Given the description of an element on the screen output the (x, y) to click on. 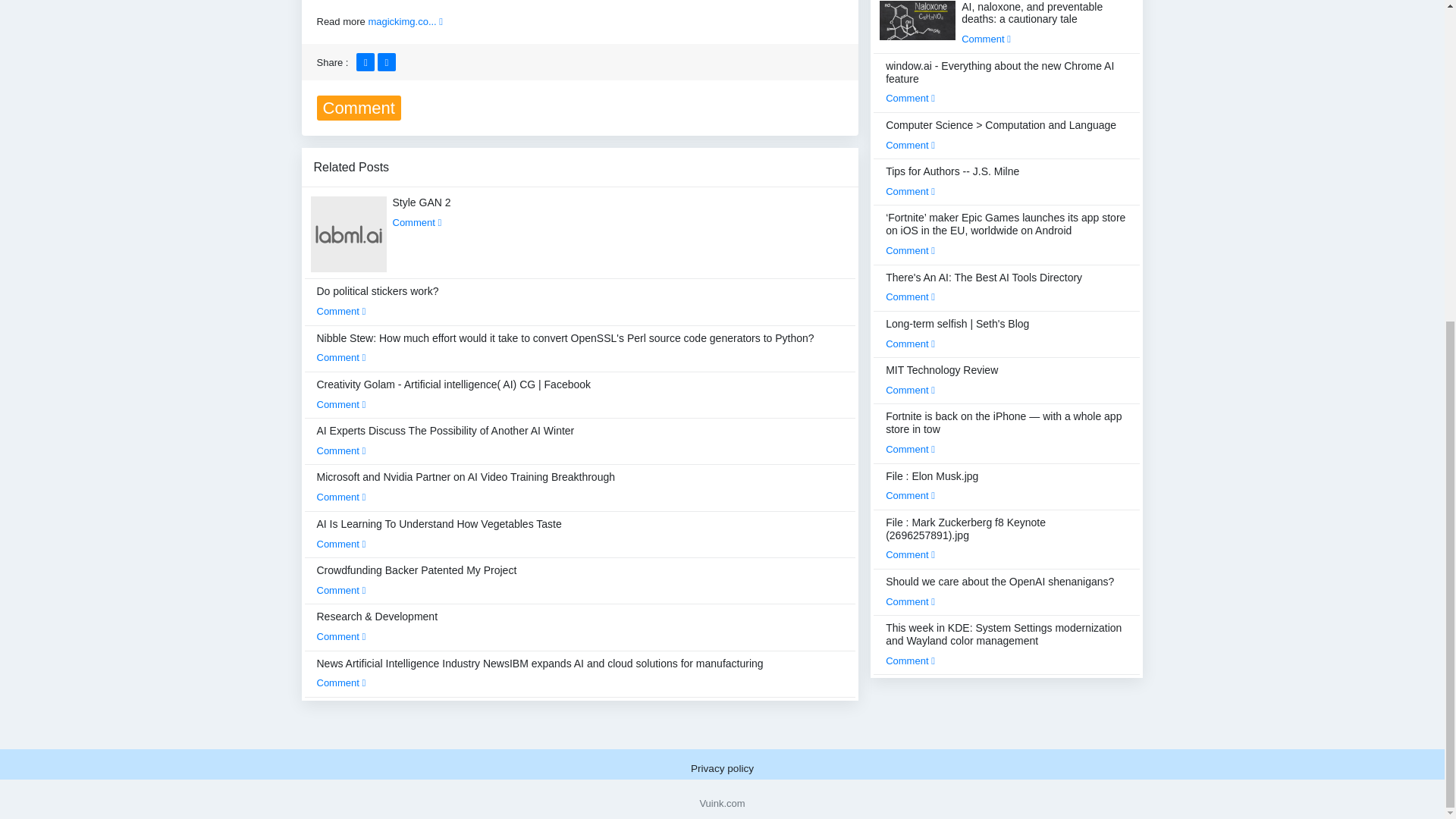
Do political stickers work? (378, 300)
Comment (341, 543)
Comment (341, 404)
Comment (417, 222)
Comment (341, 450)
AI Is Learning To Understand How Vegetables Taste (439, 533)
Comment (341, 310)
Comment (341, 590)
Crowdfunding Backer Patented My Project (416, 580)
